Given the description of an element on the screen output the (x, y) to click on. 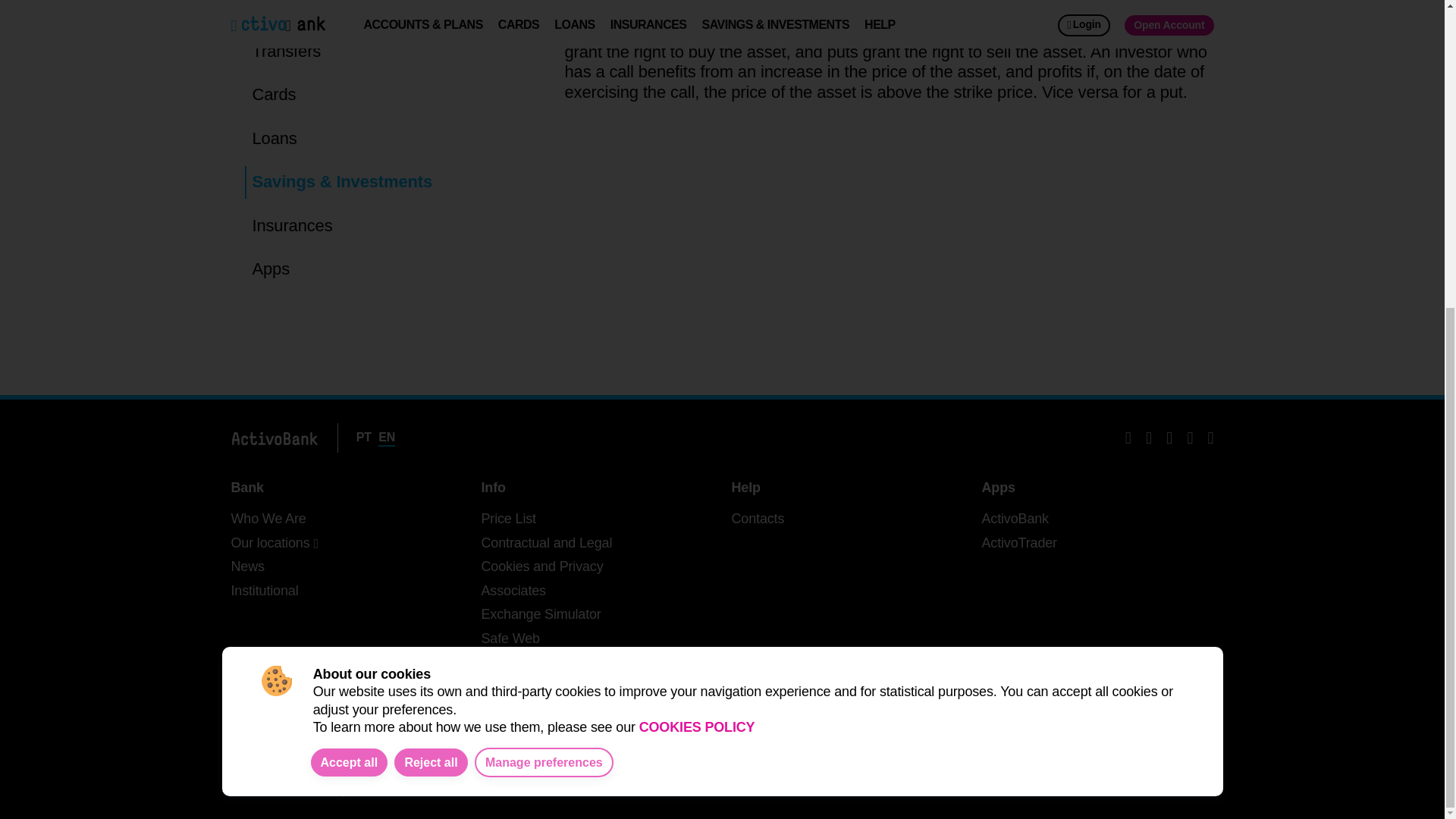
Accept all (349, 275)
Reject all (430, 275)
Manage preferences (543, 275)
